Given the description of an element on the screen output the (x, y) to click on. 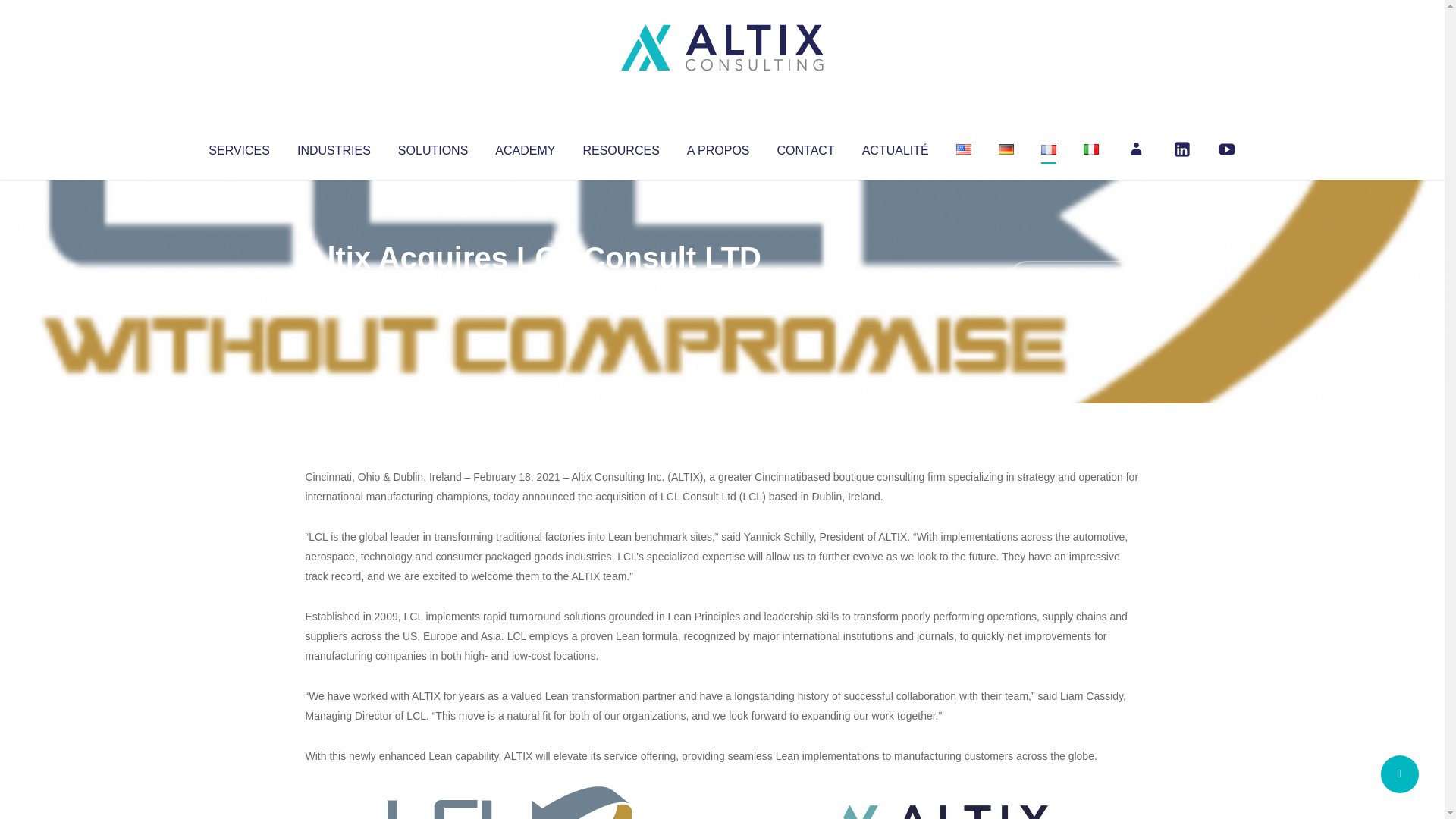
Altix (333, 287)
SERVICES (238, 146)
INDUSTRIES (334, 146)
A PROPOS (718, 146)
Uncategorized (530, 287)
ACADEMY (524, 146)
No Comments (1073, 278)
Articles par Altix (333, 287)
SOLUTIONS (432, 146)
RESOURCES (620, 146)
